Given the description of an element on the screen output the (x, y) to click on. 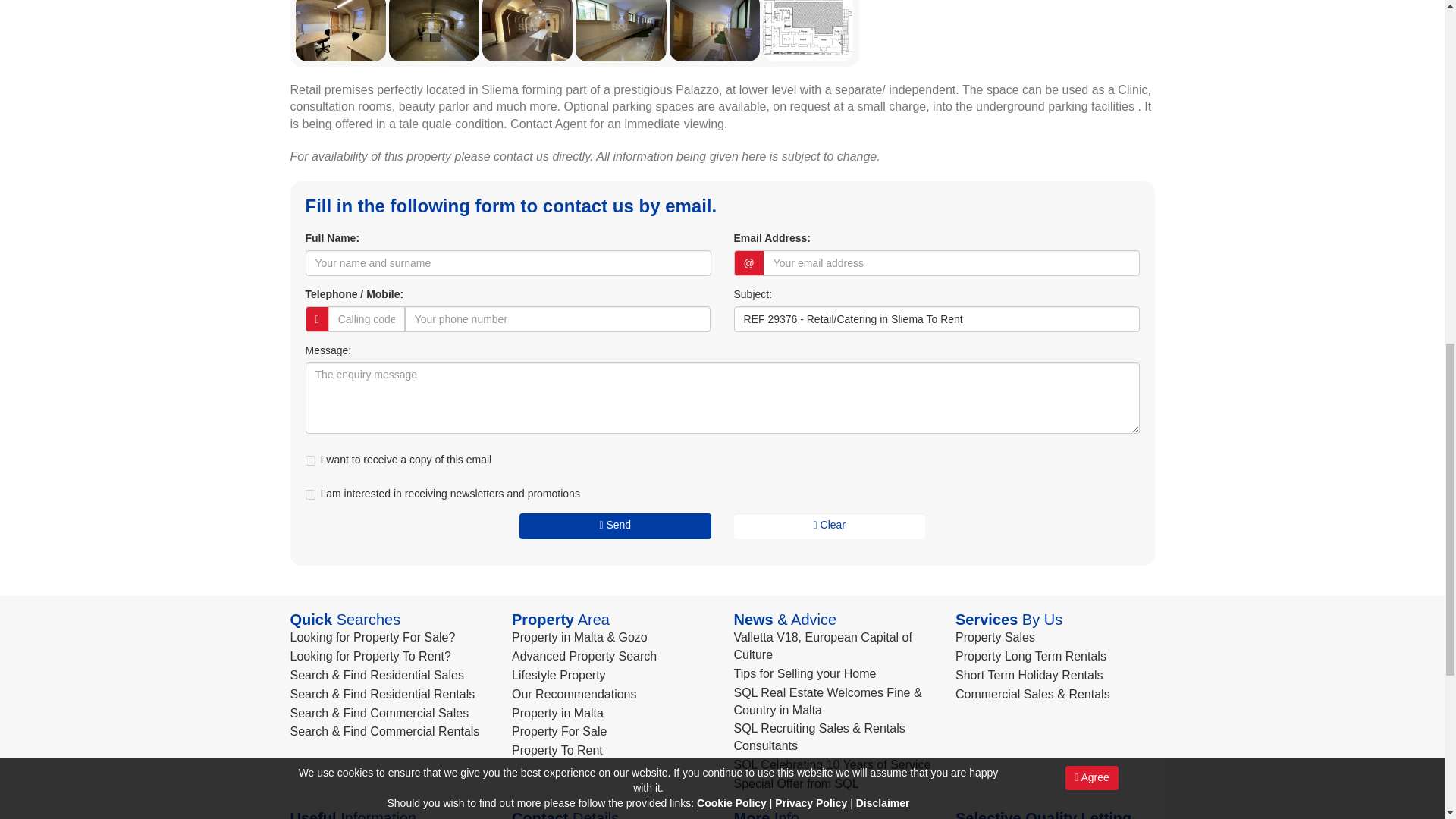
on (309, 494)
on (309, 460)
